Given the description of an element on the screen output the (x, y) to click on. 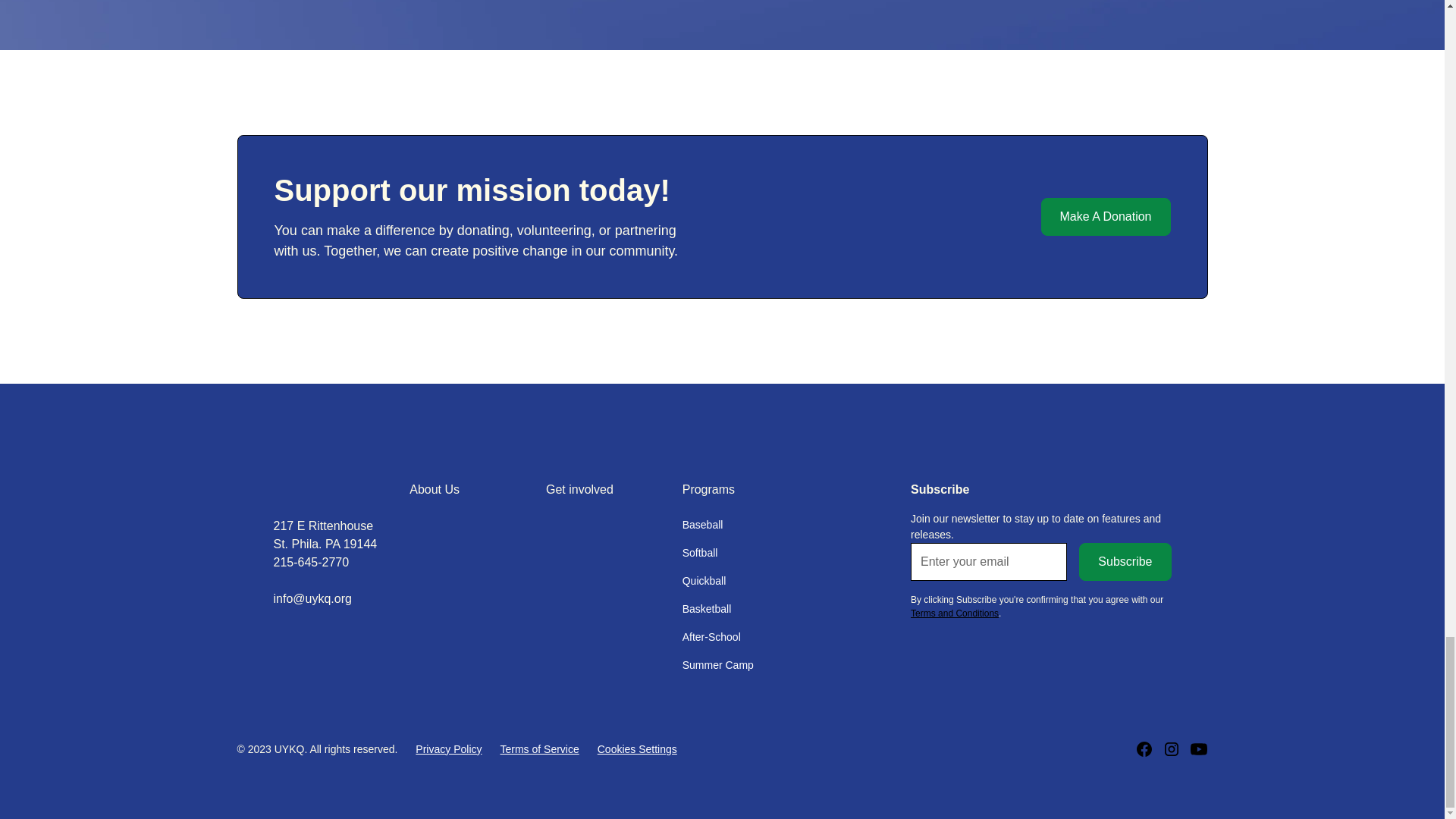
Subscribe (1124, 561)
About Us (434, 489)
Baseball (702, 524)
Privacy Policy (447, 749)
Cookies Settings (636, 749)
Terms of Service (539, 749)
Get involved (579, 489)
Terms and Conditions (954, 613)
Basketball (707, 609)
Programs (708, 489)
